Given the description of an element on the screen output the (x, y) to click on. 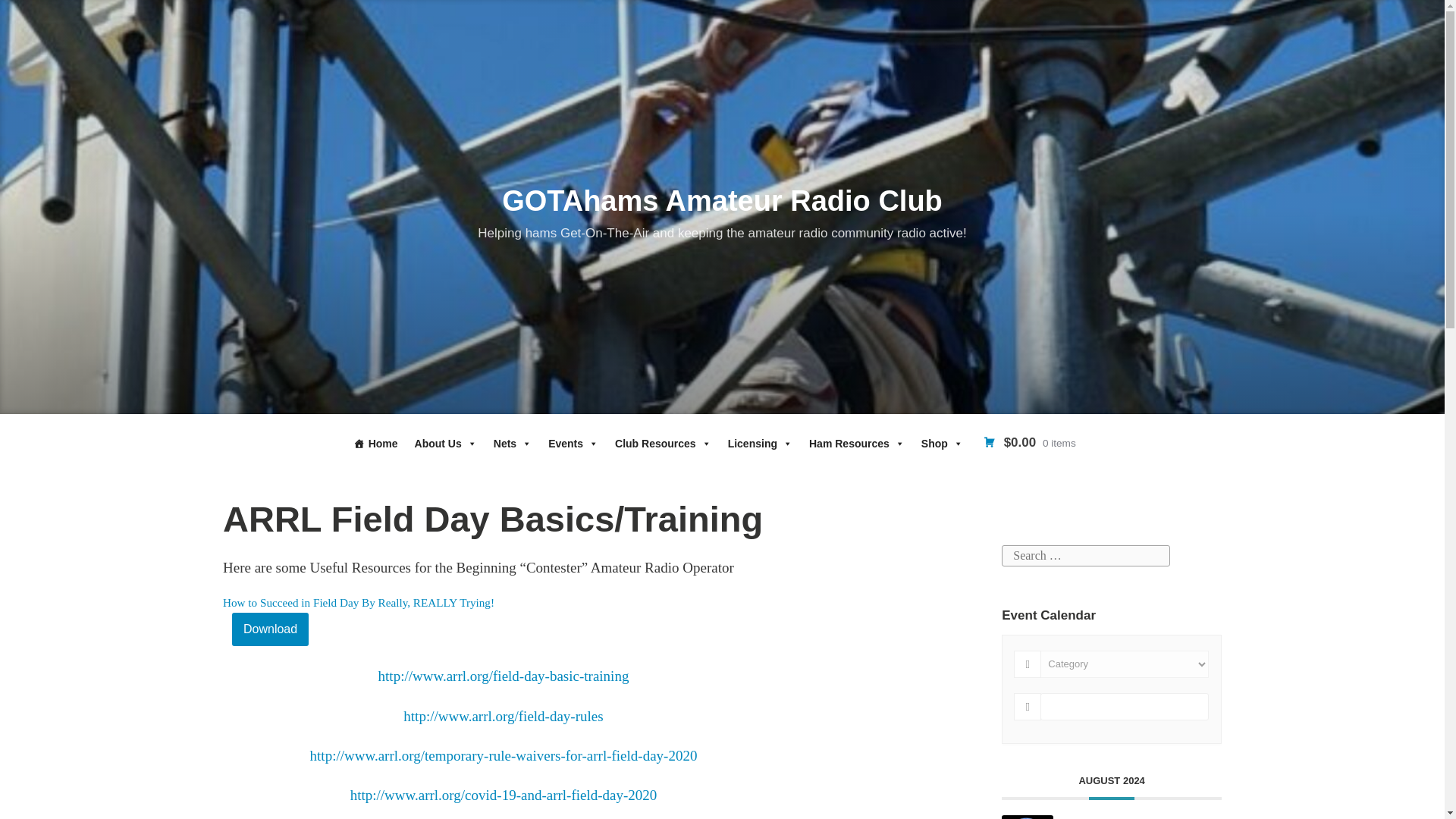
About Us (445, 443)
Licensing (759, 443)
View your shopping cart (1028, 442)
Nets (512, 443)
GOTAhams Amateur Radio Club (722, 201)
Club Resources (663, 443)
Events (572, 443)
Home (376, 443)
